Given the description of an element on the screen output the (x, y) to click on. 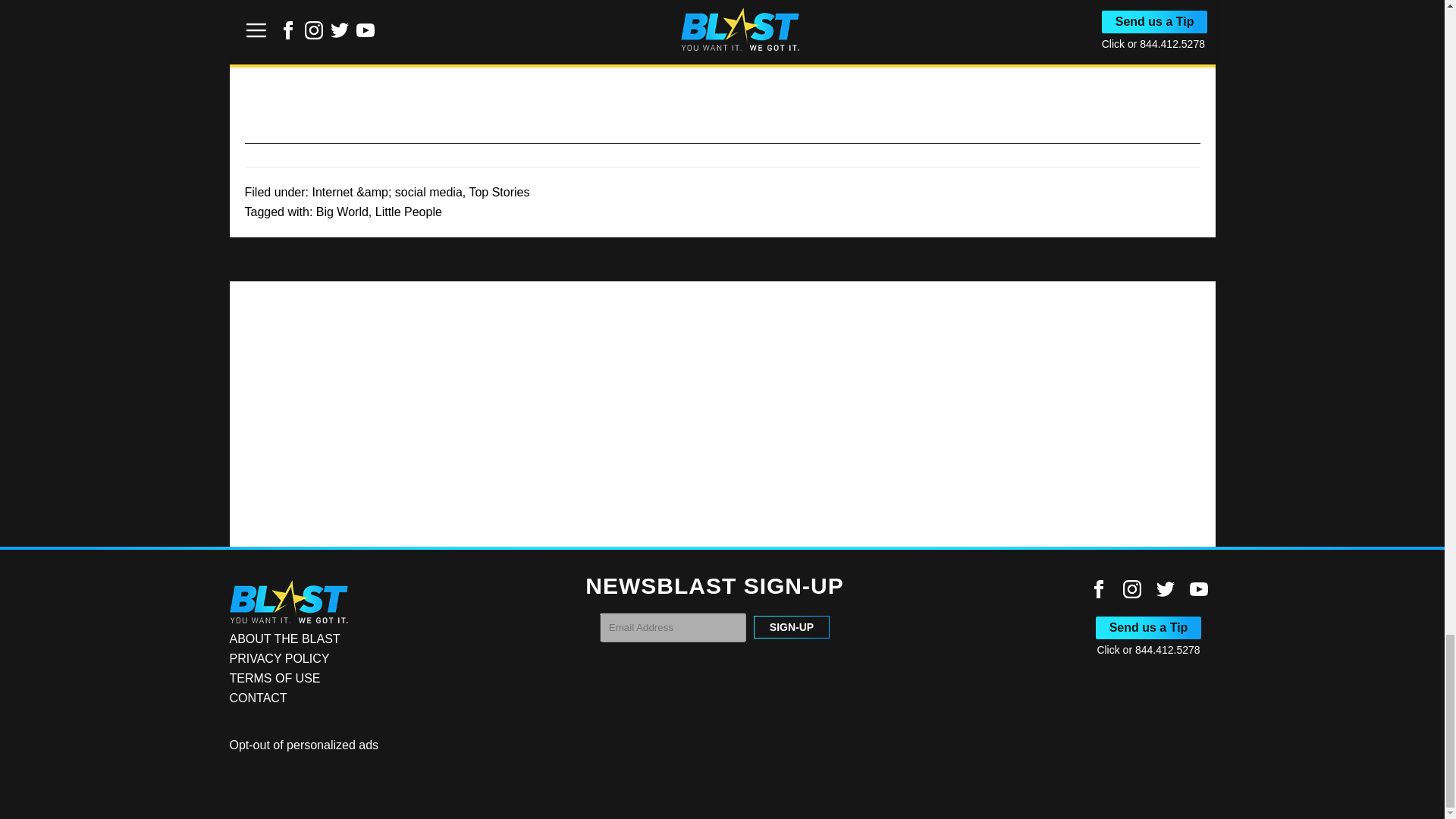
Link to Facebook (1097, 588)
Link to Facebook (1097, 594)
Link to Twitter (1164, 588)
Link to Youtube (1198, 588)
ABOUT THE BLAST (283, 638)
Top Stories (498, 192)
Big World (341, 211)
TERMS OF USE (274, 677)
PRIVACY POLICY (278, 658)
Link to Youtube (1198, 594)
Link to Instagram (1131, 588)
CONTACT (257, 697)
SIGN-UP (791, 626)
Link to Twitter (1164, 594)
SIGN-UP (791, 626)
